Given the description of an element on the screen output the (x, y) to click on. 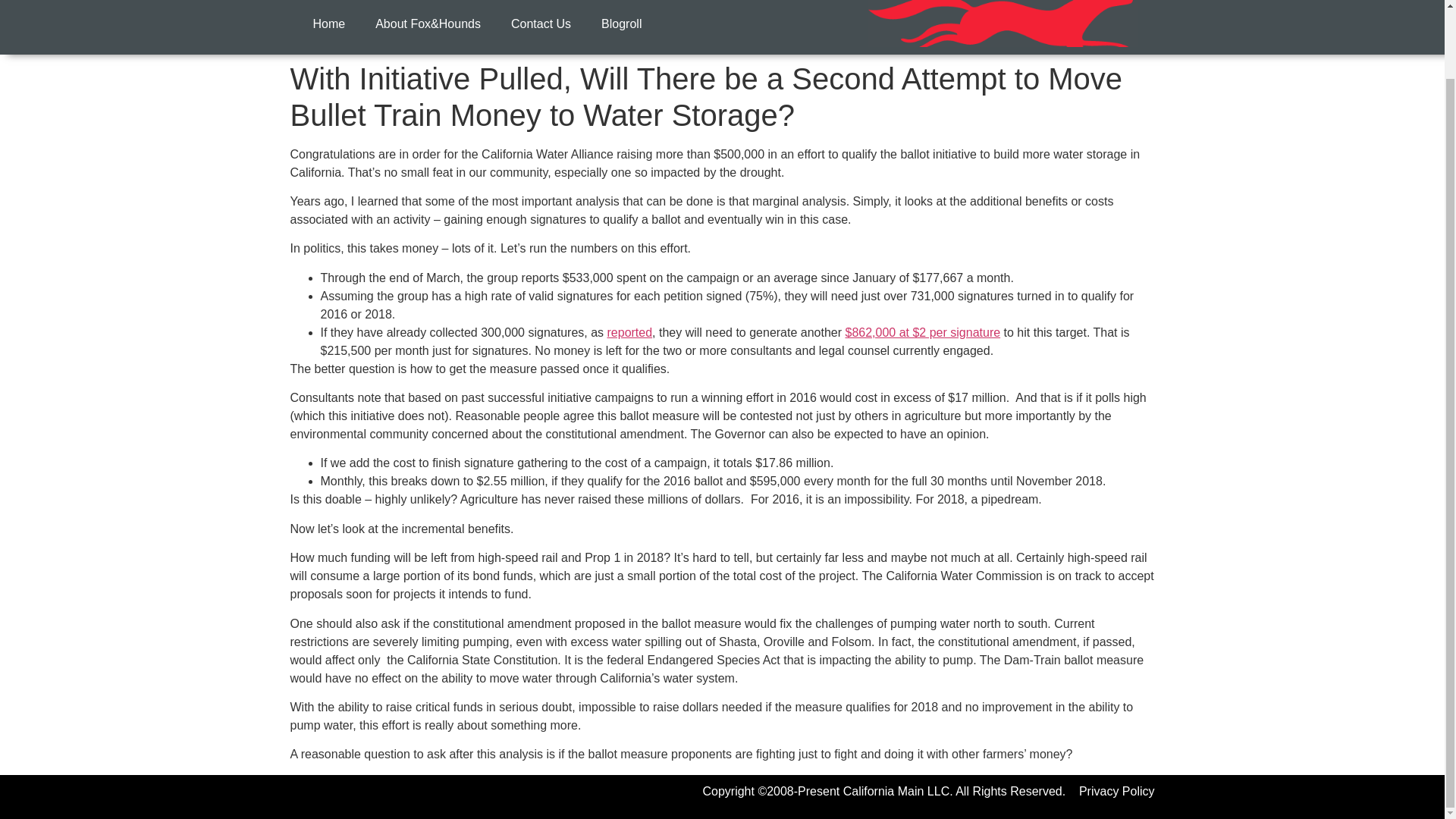
Blogroll (621, 23)
Contact Us (541, 23)
reported (629, 332)
Privacy Policy (1116, 790)
Home (328, 23)
